Given the description of an element on the screen output the (x, y) to click on. 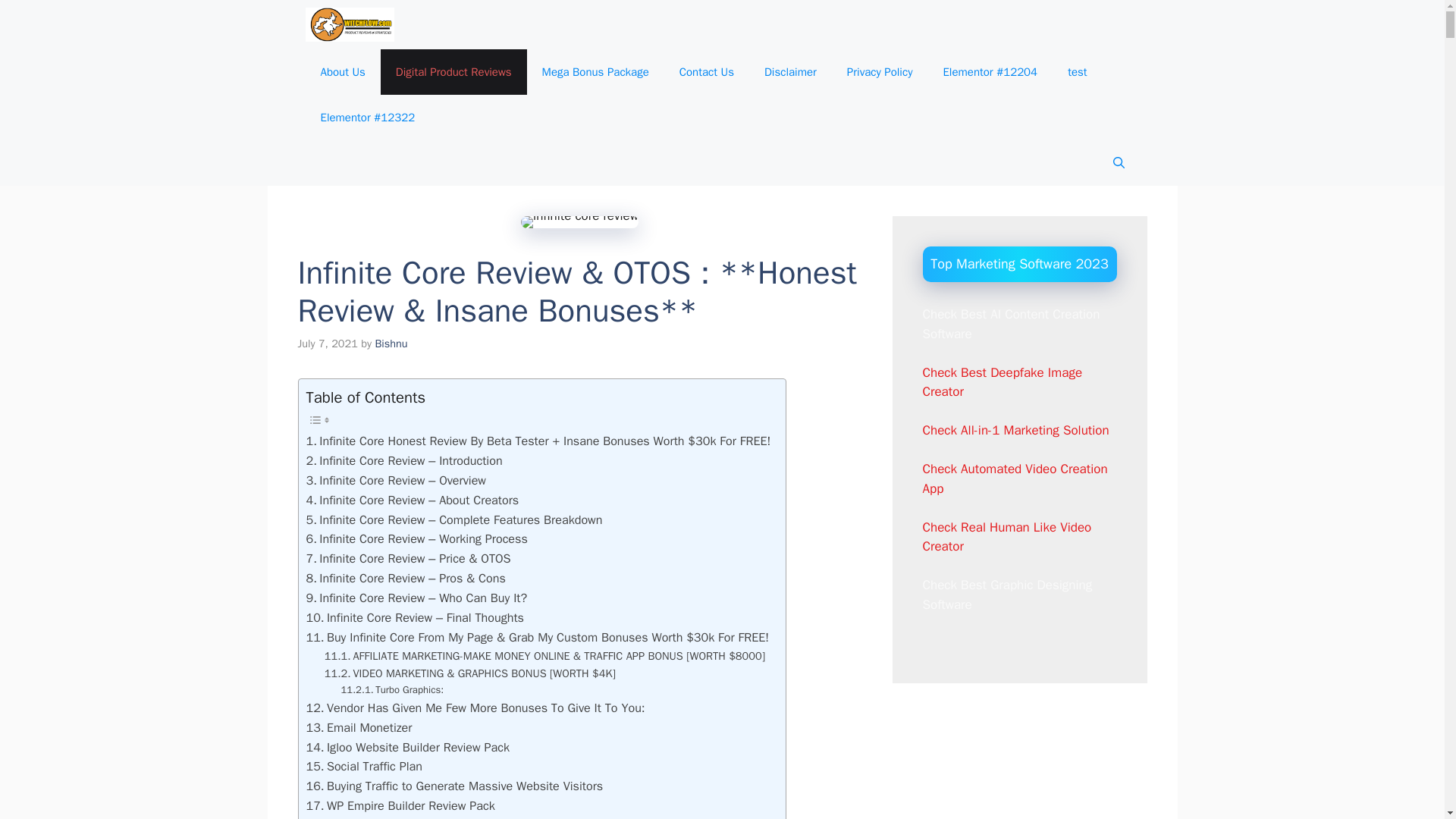
View all posts by Bishnu (390, 343)
Digital Product Reviews (453, 72)
Privacy Policy (879, 72)
Disclaimer (790, 72)
Social Traffic Plan (363, 766)
Buying Traffic to Generate Massive Website Visitors (454, 786)
WP Empire Builder Review Pack (400, 805)
Igloo Website Builder Review Pack (408, 747)
Email Monetizer (358, 727)
Turbo Graphics: (392, 690)
